Given the description of an element on the screen output the (x, y) to click on. 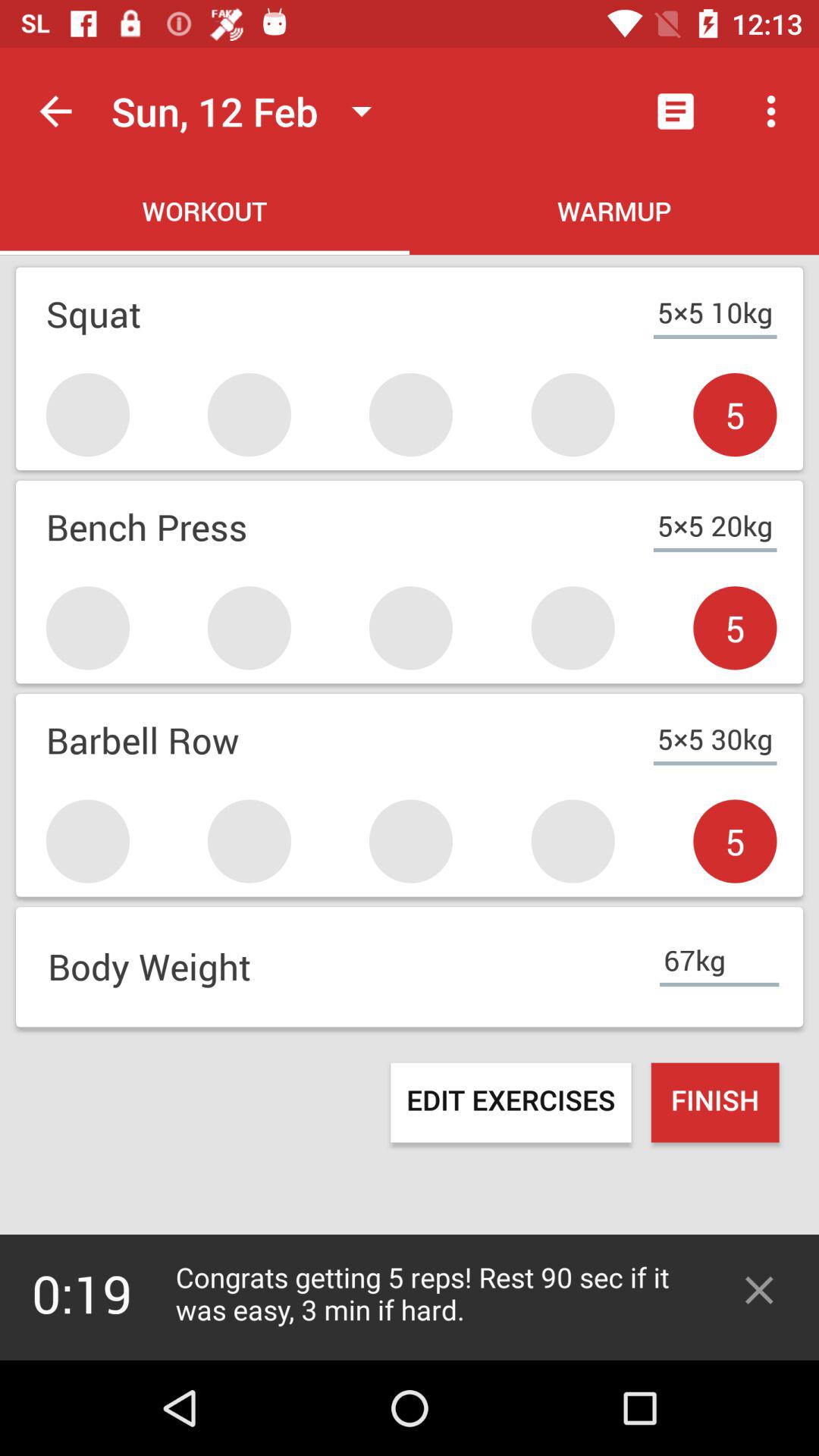
closes alert (759, 1290)
